Given the description of an element on the screen output the (x, y) to click on. 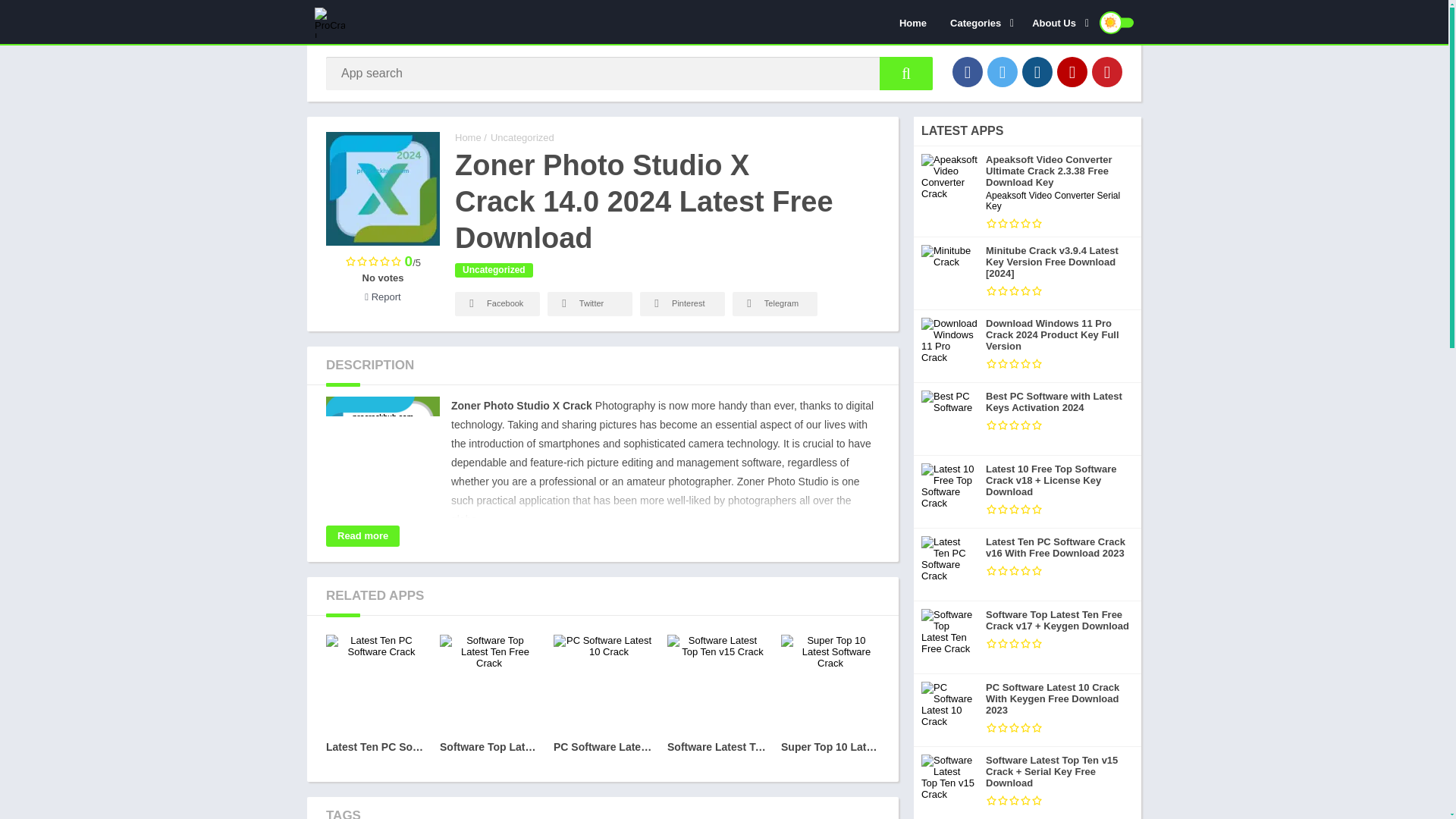
Twitter (1002, 71)
About Us (1057, 22)
Pinterest (682, 303)
Categories (979, 22)
Facebook (967, 71)
Facebook (497, 303)
Uncategorized (522, 137)
Home (912, 22)
Instagram (1037, 71)
YouTube (1072, 71)
